Given the description of an element on the screen output the (x, y) to click on. 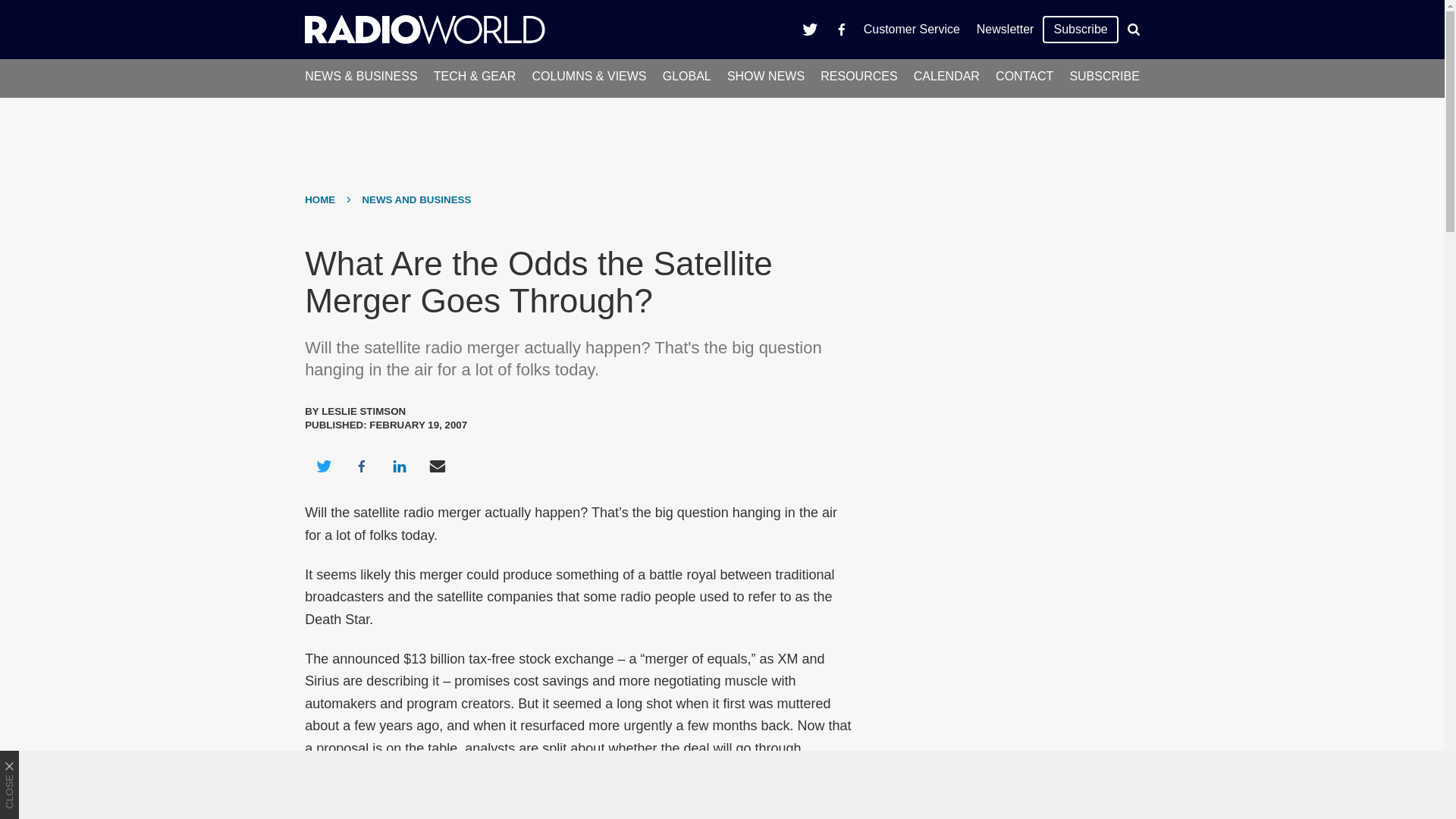
Share on LinkedIn (399, 466)
Share on Twitter (323, 466)
Customer Service (912, 29)
Share via Email (438, 466)
Share on Facebook (361, 466)
